Given the description of an element on the screen output the (x, y) to click on. 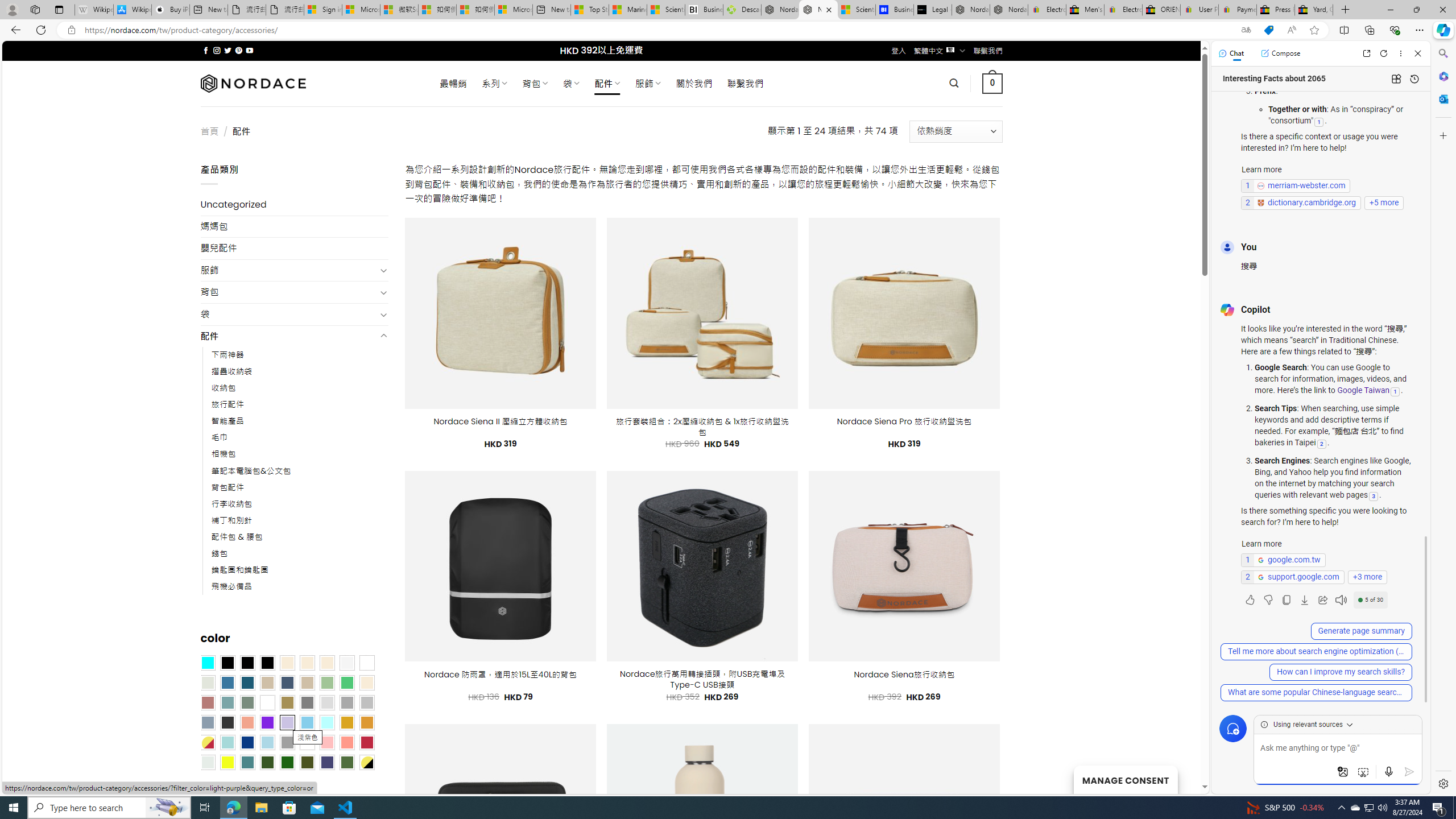
Cream (327, 662)
Minimize Search pane (1442, 53)
Microsoft account | Account Checkup (513, 9)
